Given the description of an element on the screen output the (x, y) to click on. 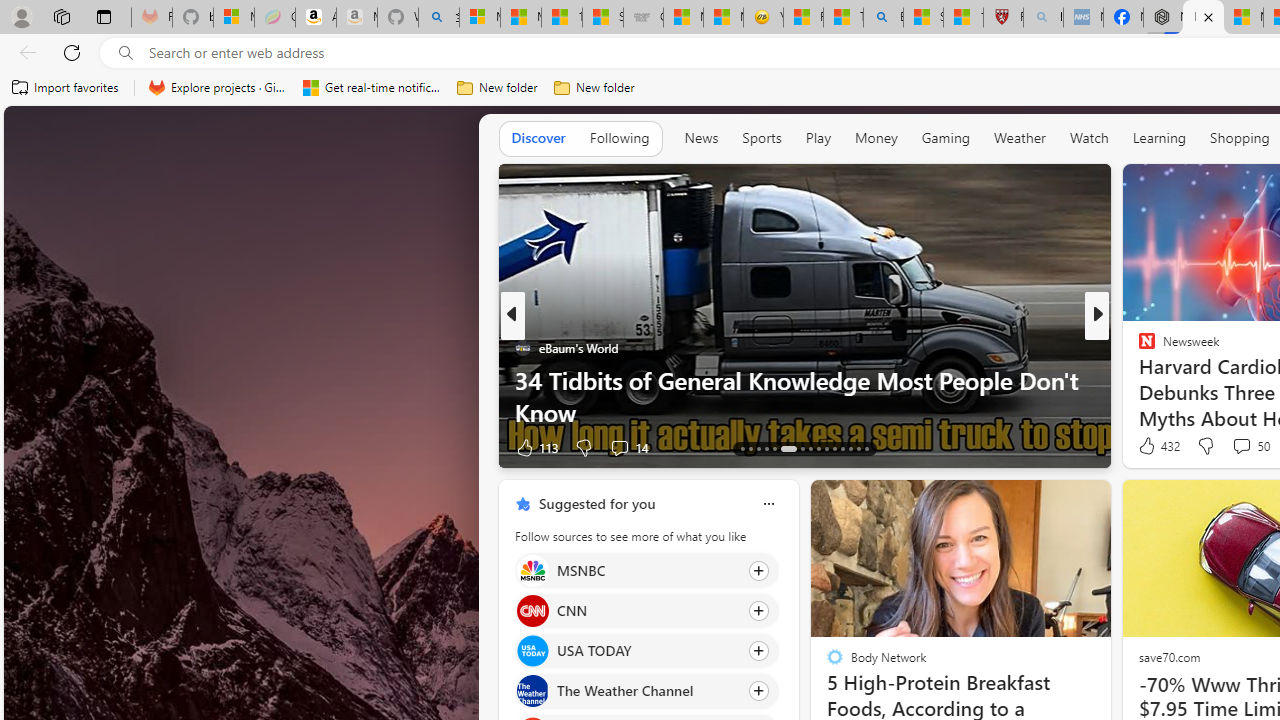
Play (817, 137)
View comments 7 Comment (1229, 447)
Click to follow source CNN (646, 610)
328 Like (1151, 447)
AutomationID: tab-74 (818, 448)
Click to follow source The Weather Channel (646, 691)
Gaming (945, 137)
View comments 1 Comment (1234, 447)
